Given the description of an element on the screen output the (x, y) to click on. 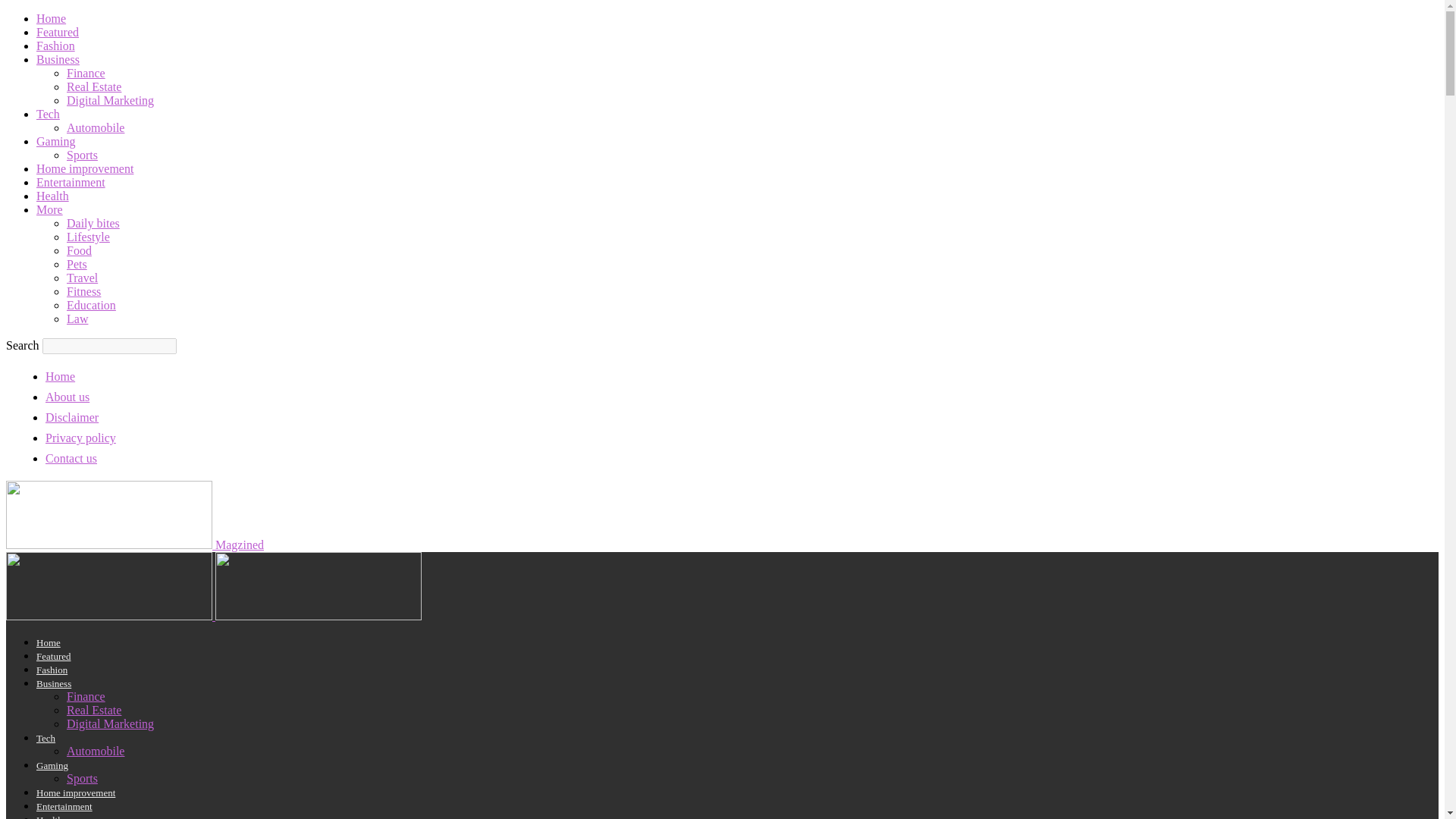
Home (50, 18)
Tech (47, 113)
Contact us (71, 458)
Pets (76, 264)
Automobile (94, 127)
Sports (81, 154)
Health (52, 195)
Finance (85, 72)
Entertainment (70, 182)
Food (78, 250)
